Given the description of an element on the screen output the (x, y) to click on. 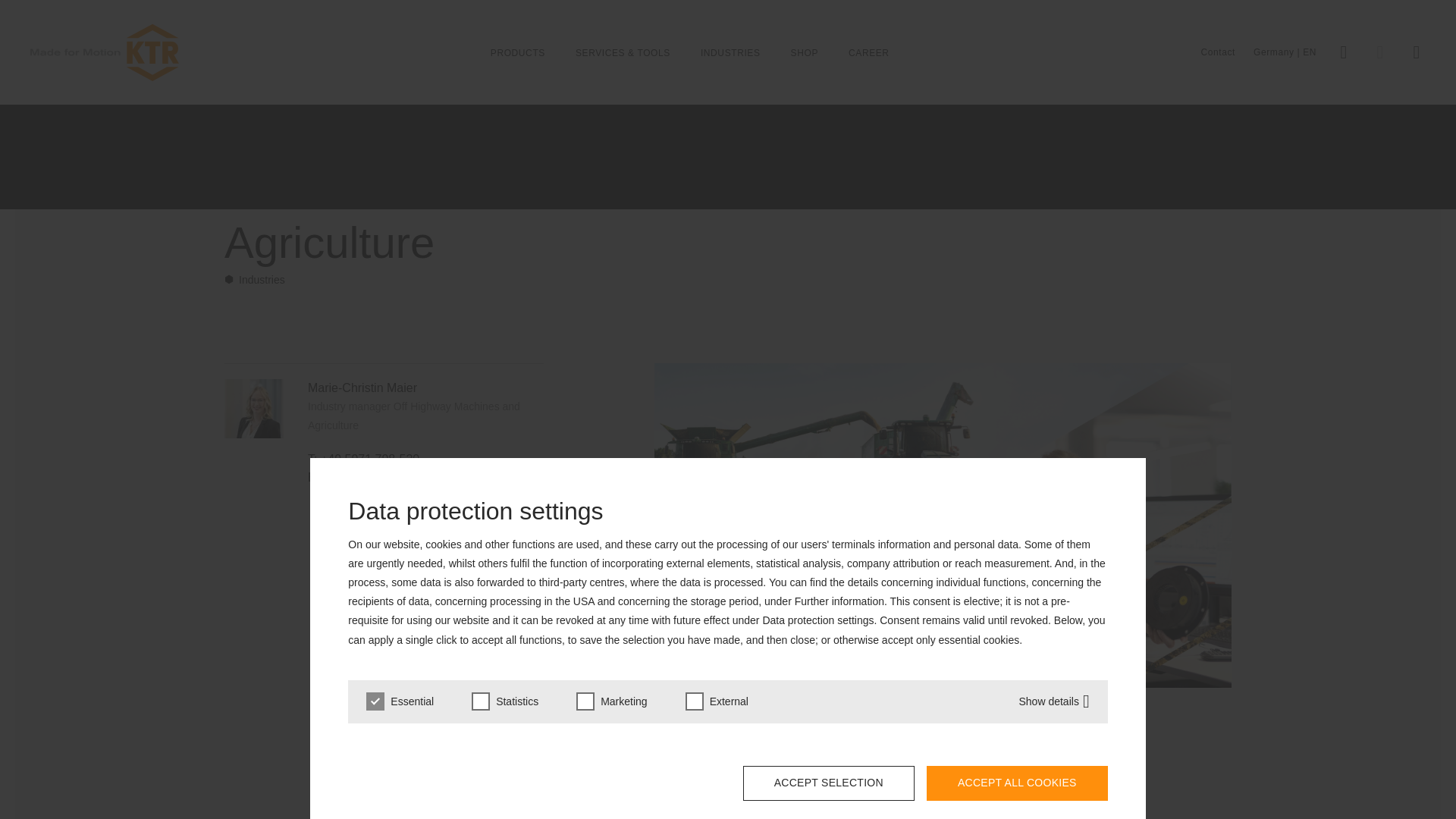
PRODUCTS (517, 52)
Contact (1216, 51)
INDUSTRIES (730, 52)
login (1343, 52)
open menu (1416, 52)
CAREER (868, 52)
open search (1380, 52)
Logo KTR - Go to homepage (104, 52)
SHOP (804, 52)
